Given the description of an element on the screen output the (x, y) to click on. 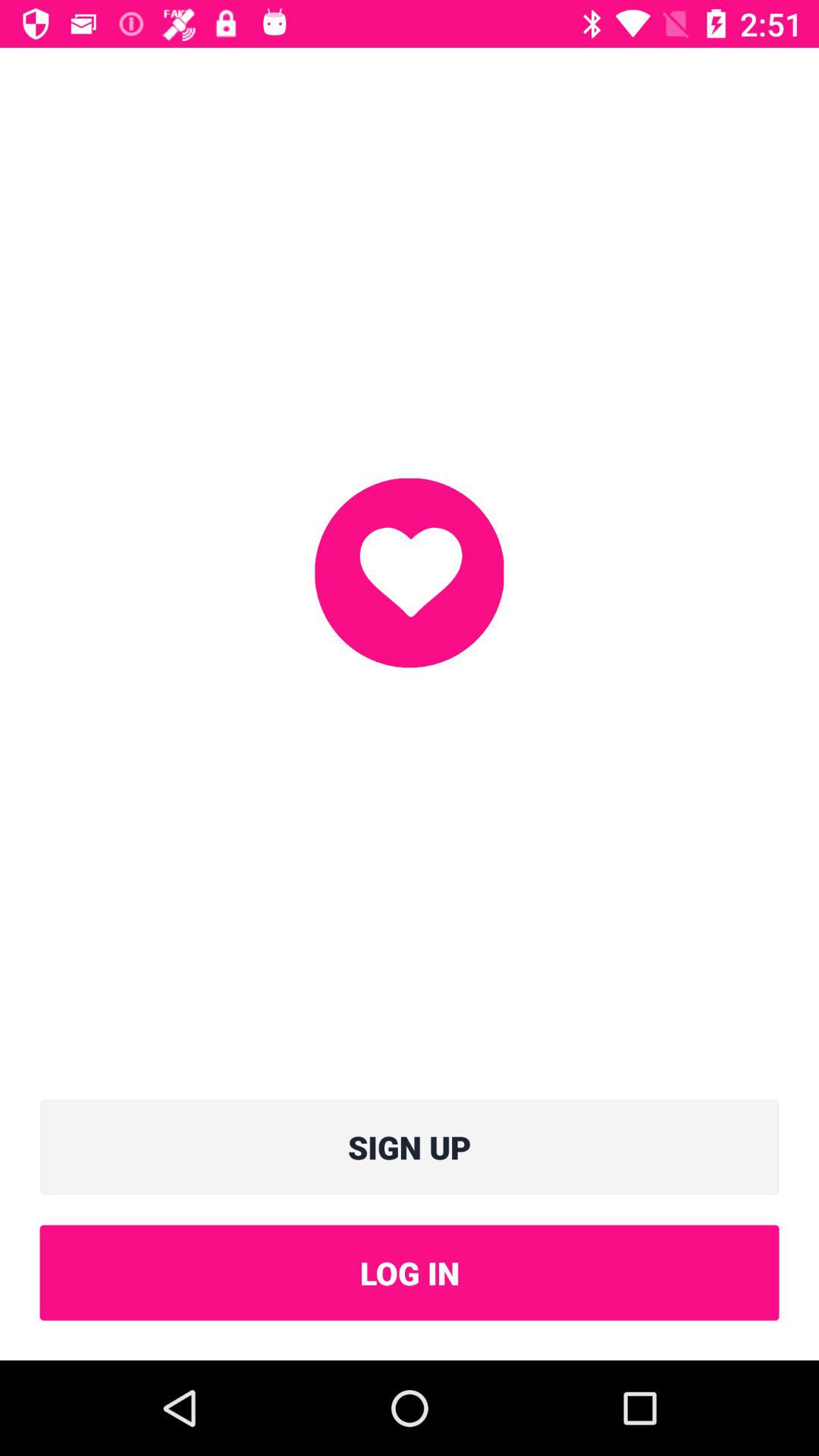
flip until the sign up icon (409, 1146)
